Given the description of an element on the screen output the (x, y) to click on. 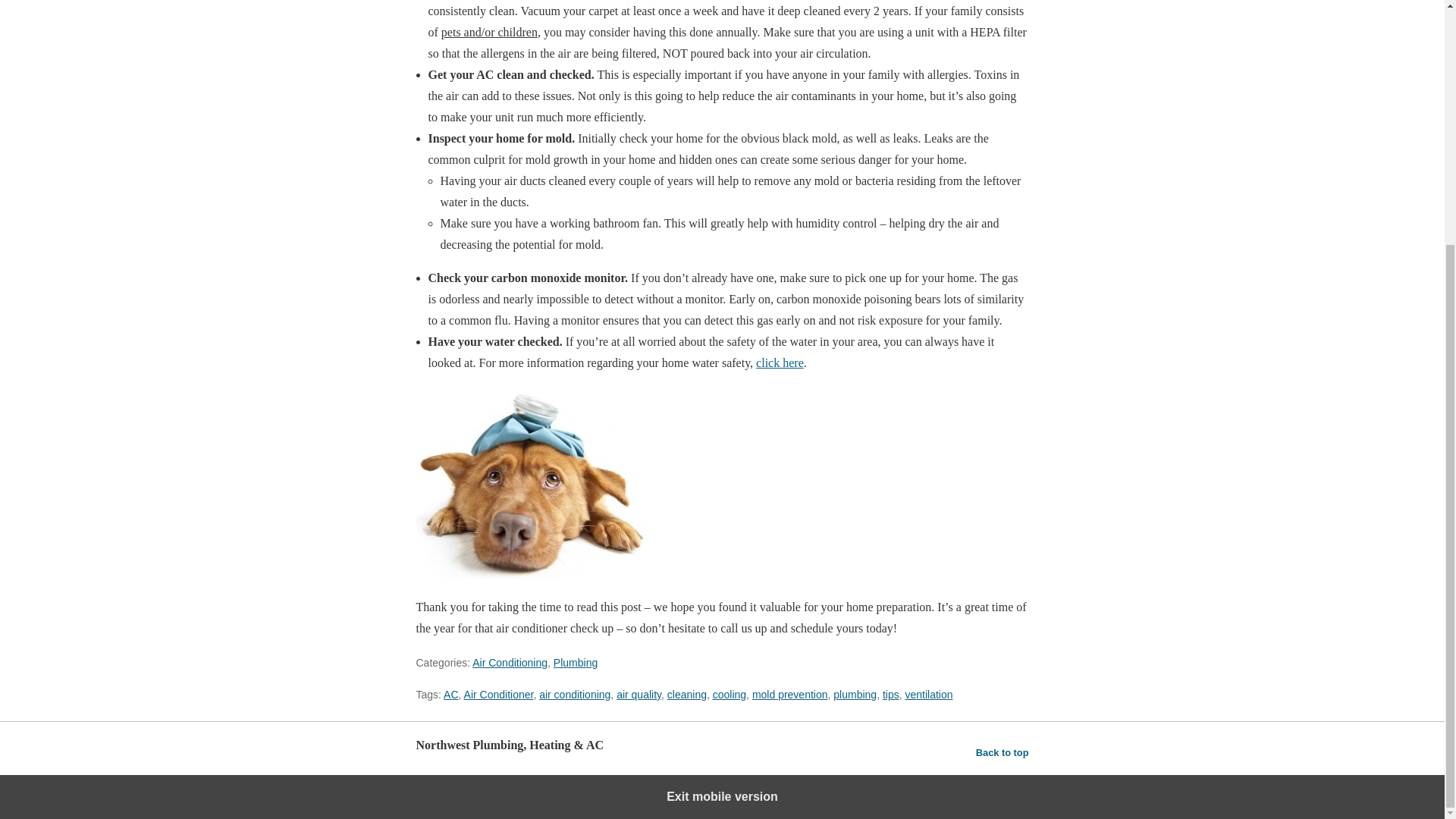
Back to top (1002, 752)
Plumbing (574, 662)
click here (779, 362)
air conditioning (574, 694)
ventilation (928, 694)
plumbing (854, 694)
cooling (729, 694)
cleaning (686, 694)
air quality (638, 694)
AC (451, 694)
tips (890, 694)
Air Conditioner (499, 694)
Air Conditioning (509, 662)
mold prevention (790, 694)
